Given the description of an element on the screen output the (x, y) to click on. 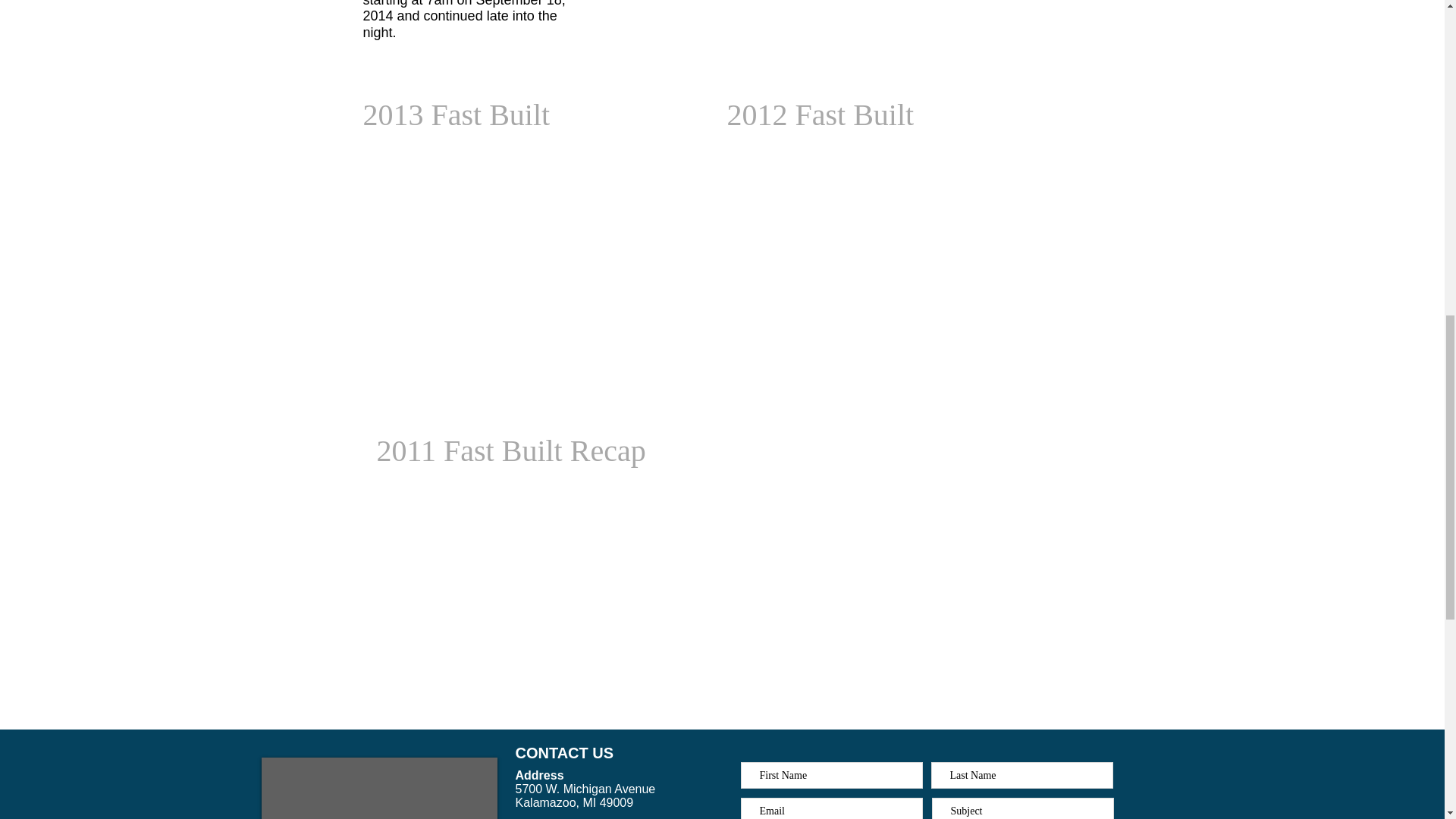
External YouTube (895, 602)
External YouTube (528, 262)
External YouTube (528, 602)
External YouTube (892, 262)
